Given the description of an element on the screen output the (x, y) to click on. 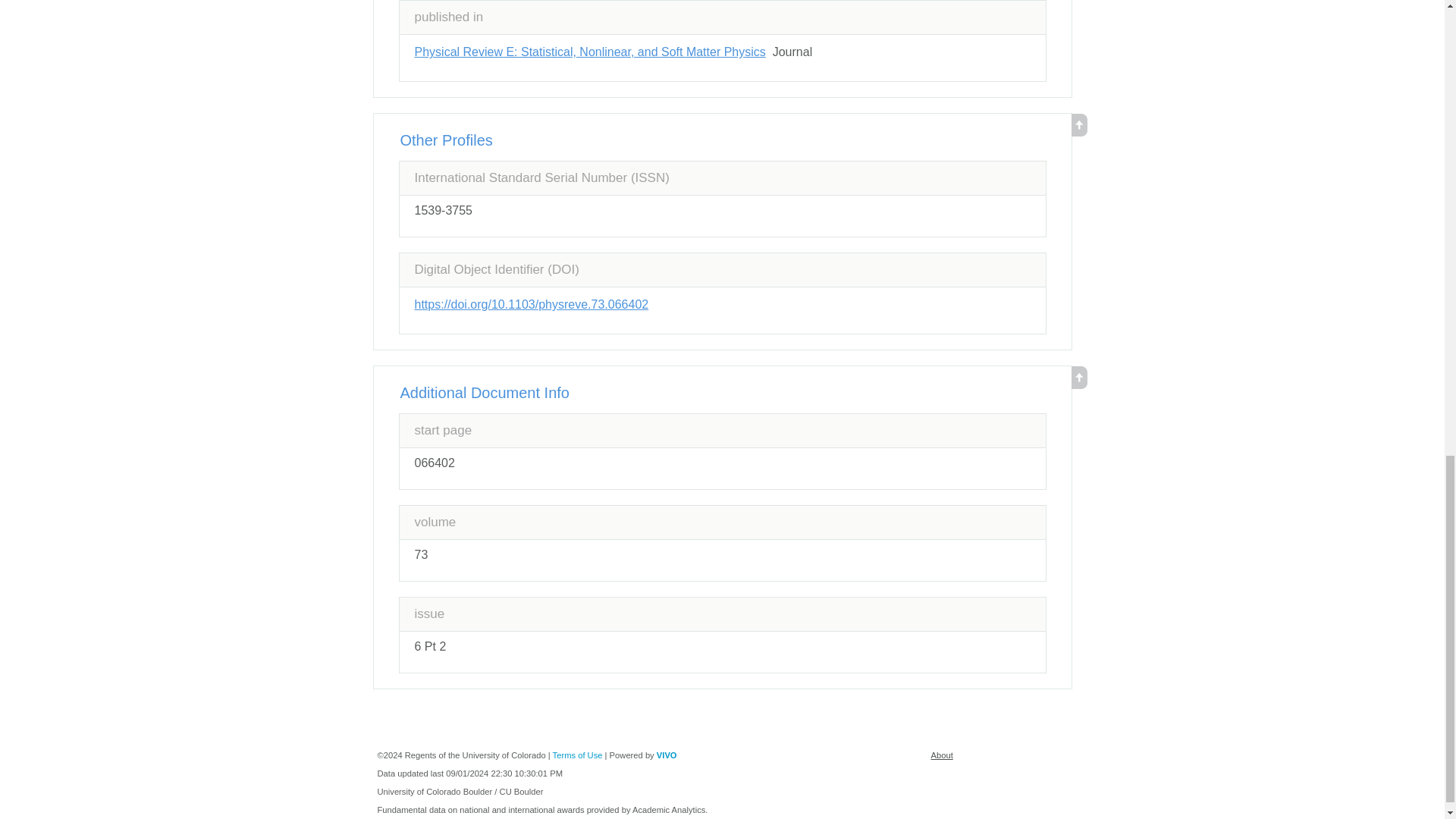
VIVO (666, 755)
About (942, 755)
Terms of Use (577, 755)
